Given the description of an element on the screen output the (x, y) to click on. 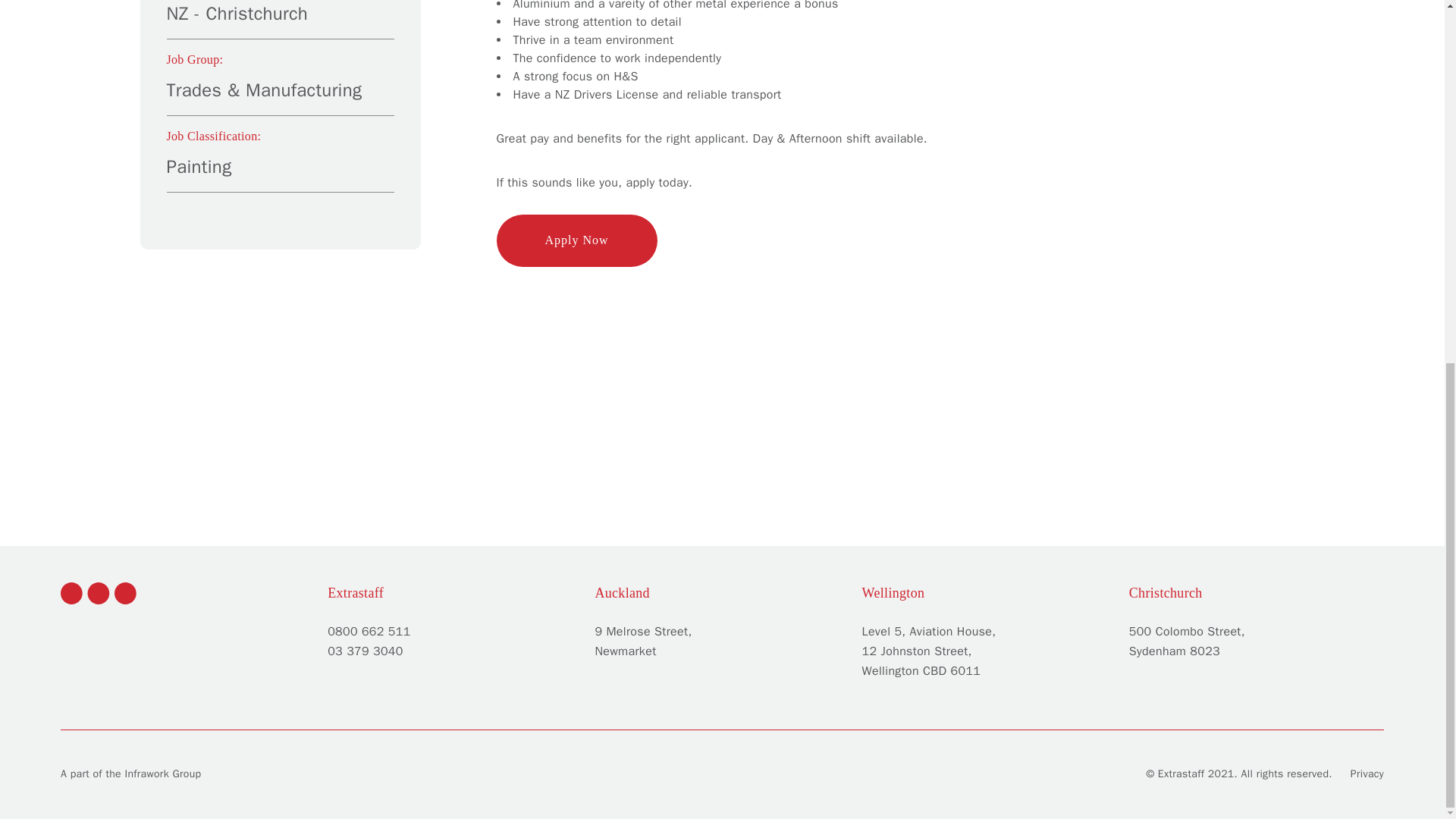
Apply Now (576, 240)
Privacy (1367, 774)
A part of the Infrawork Group (130, 774)
